Given the description of an element on the screen output the (x, y) to click on. 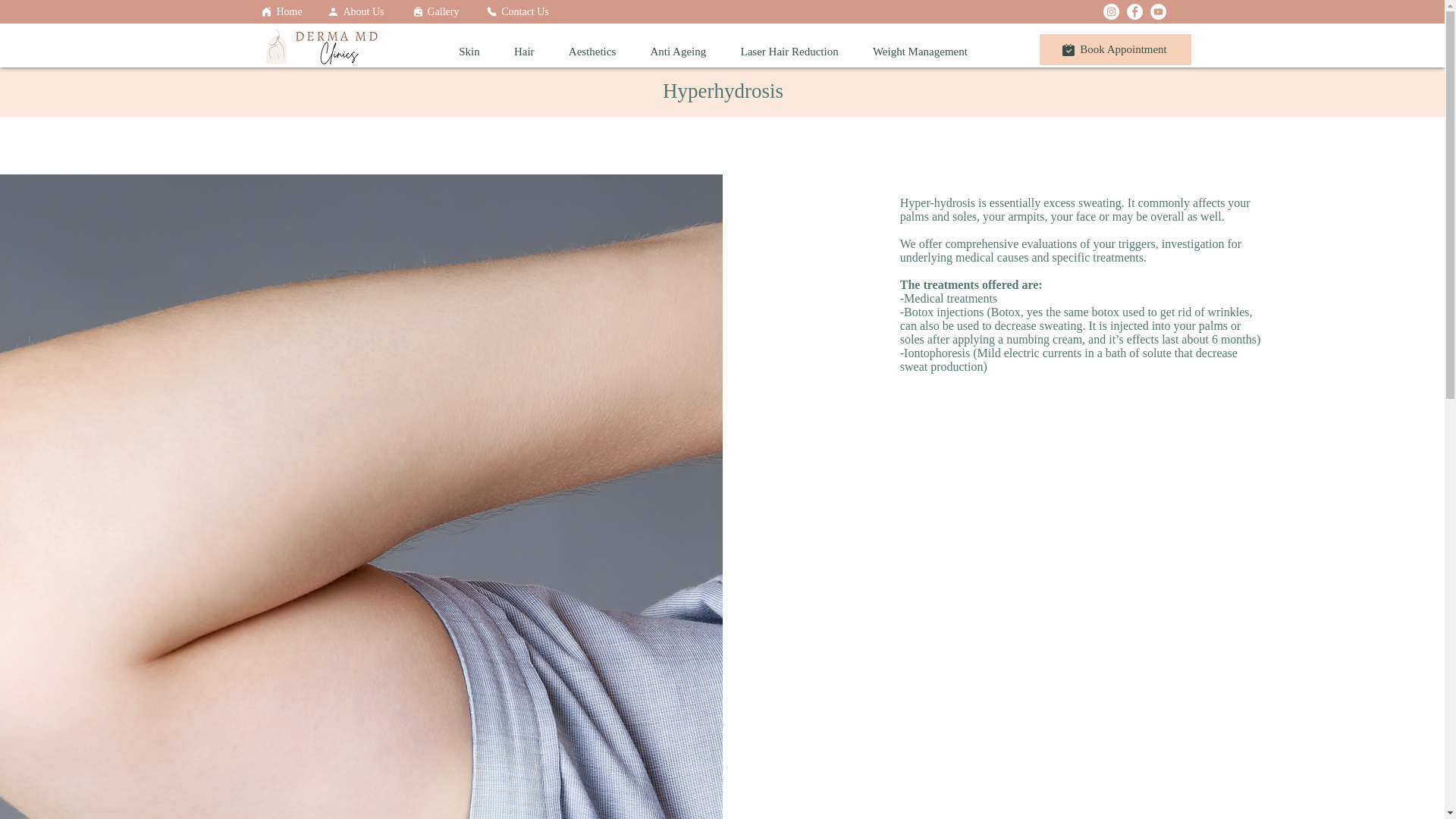
Gallery (435, 11)
Home (282, 11)
About Us (356, 11)
Skin (468, 51)
Hair (523, 51)
Contact Us (518, 11)
